Given the description of an element on the screen output the (x, y) to click on. 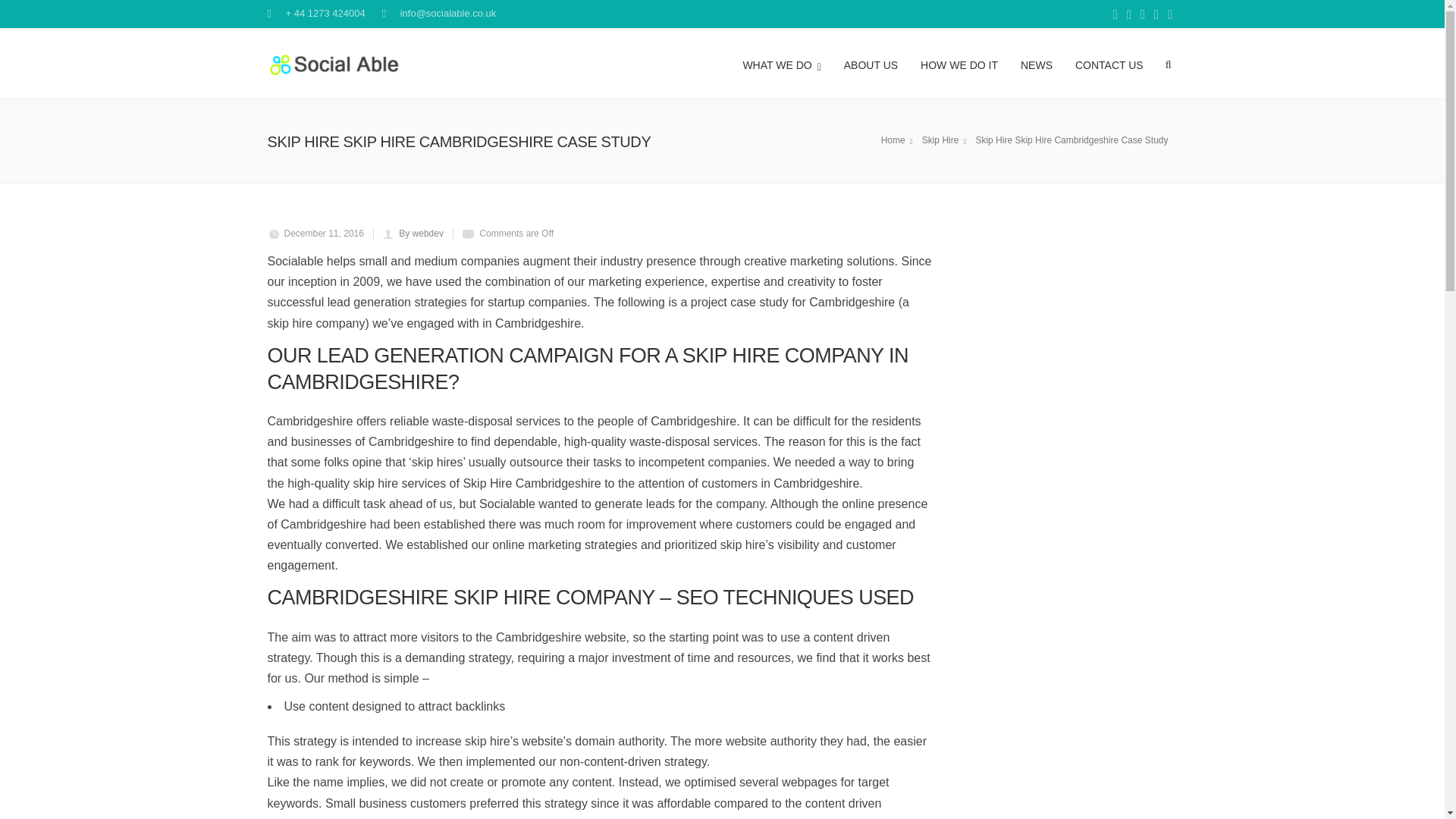
ABOUT US (870, 63)
CONTACT US (1109, 63)
LinkedIn (1156, 15)
HOW WE DO IT (958, 63)
WHAT WE DO (780, 63)
Instagram (1169, 15)
Skip Hire Skip Hire Cambridgeshire Case Study (1073, 140)
Skype (1128, 15)
Facebook (1114, 15)
Twitter (1142, 15)
Skip Hire Skip Hire Cambridgeshire Case Study (946, 140)
